Given the description of an element on the screen output the (x, y) to click on. 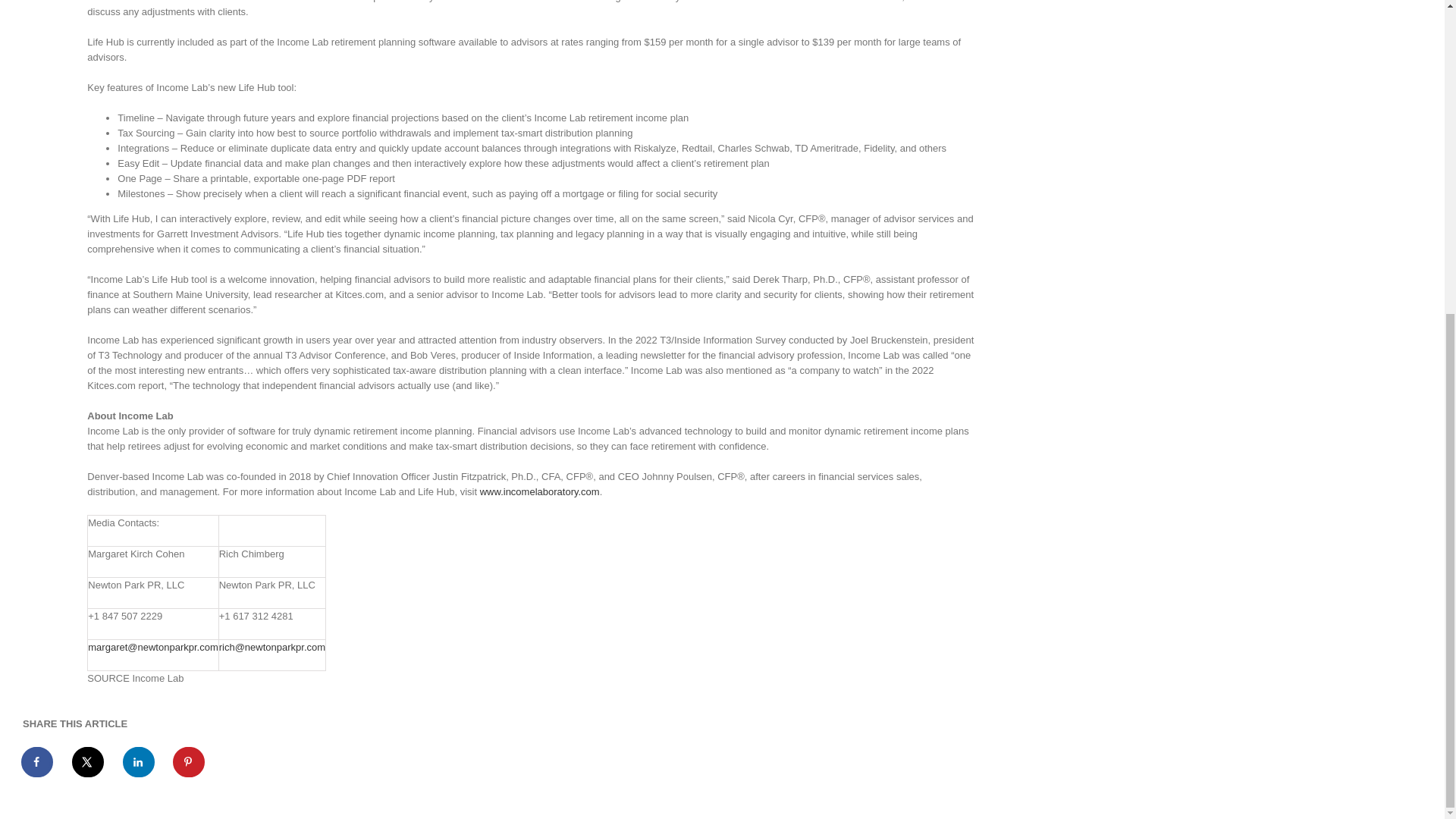
Save to Pinterest (189, 761)
www.incomelaboratory.com (539, 491)
Share on LinkedIn (138, 761)
Share on Facebook (37, 761)
Share on X (88, 761)
